Given the description of an element on the screen output the (x, y) to click on. 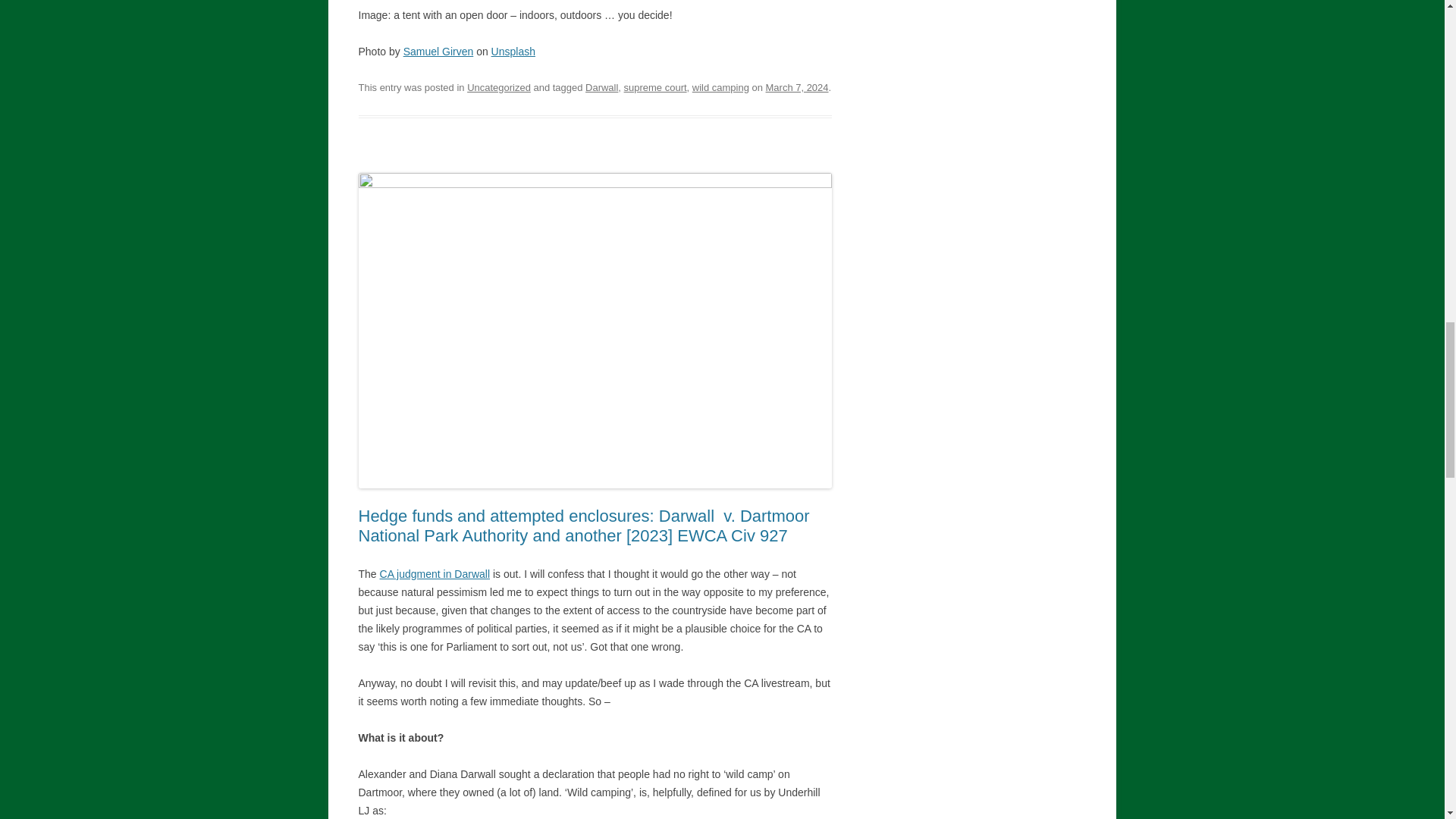
wild camping (721, 87)
Darwall (601, 87)
Samuel Girven (438, 51)
Uncategorized (499, 87)
CA judgment in Darwall (435, 573)
supreme court (655, 87)
6:50 pm (796, 87)
Unsplash (513, 51)
March 7, 2024 (796, 87)
